Given the description of an element on the screen output the (x, y) to click on. 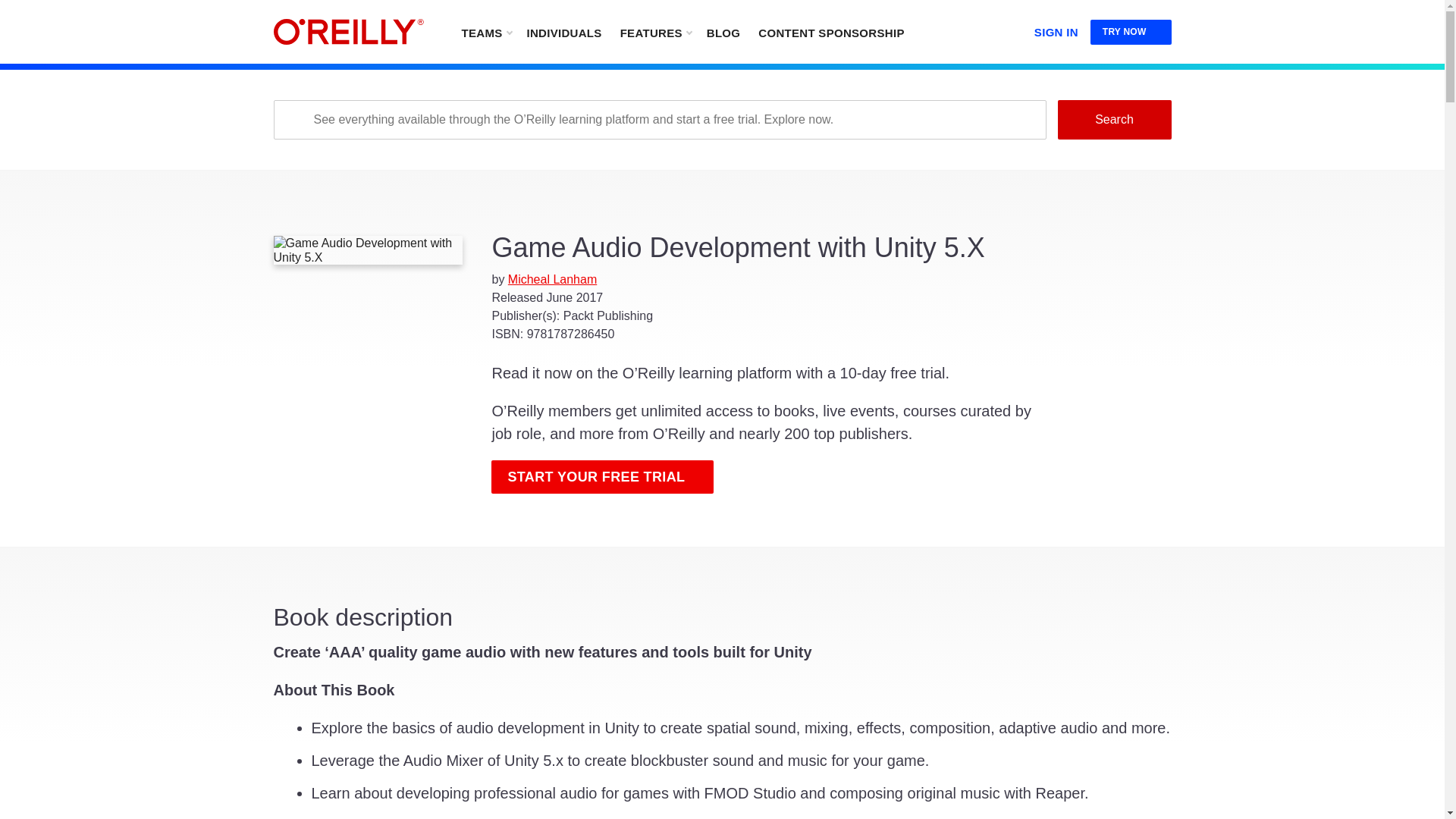
FEATURES (655, 31)
Search (1113, 119)
SIGN IN (1055, 29)
TRY NOW (1131, 32)
INDIVIDUALS (563, 31)
START YOUR FREE TRIAL (602, 476)
Search (1113, 119)
Micheal Lanham (552, 278)
CONTENT SPONSORSHIP (831, 31)
TEAMS (486, 31)
